Given the description of an element on the screen output the (x, y) to click on. 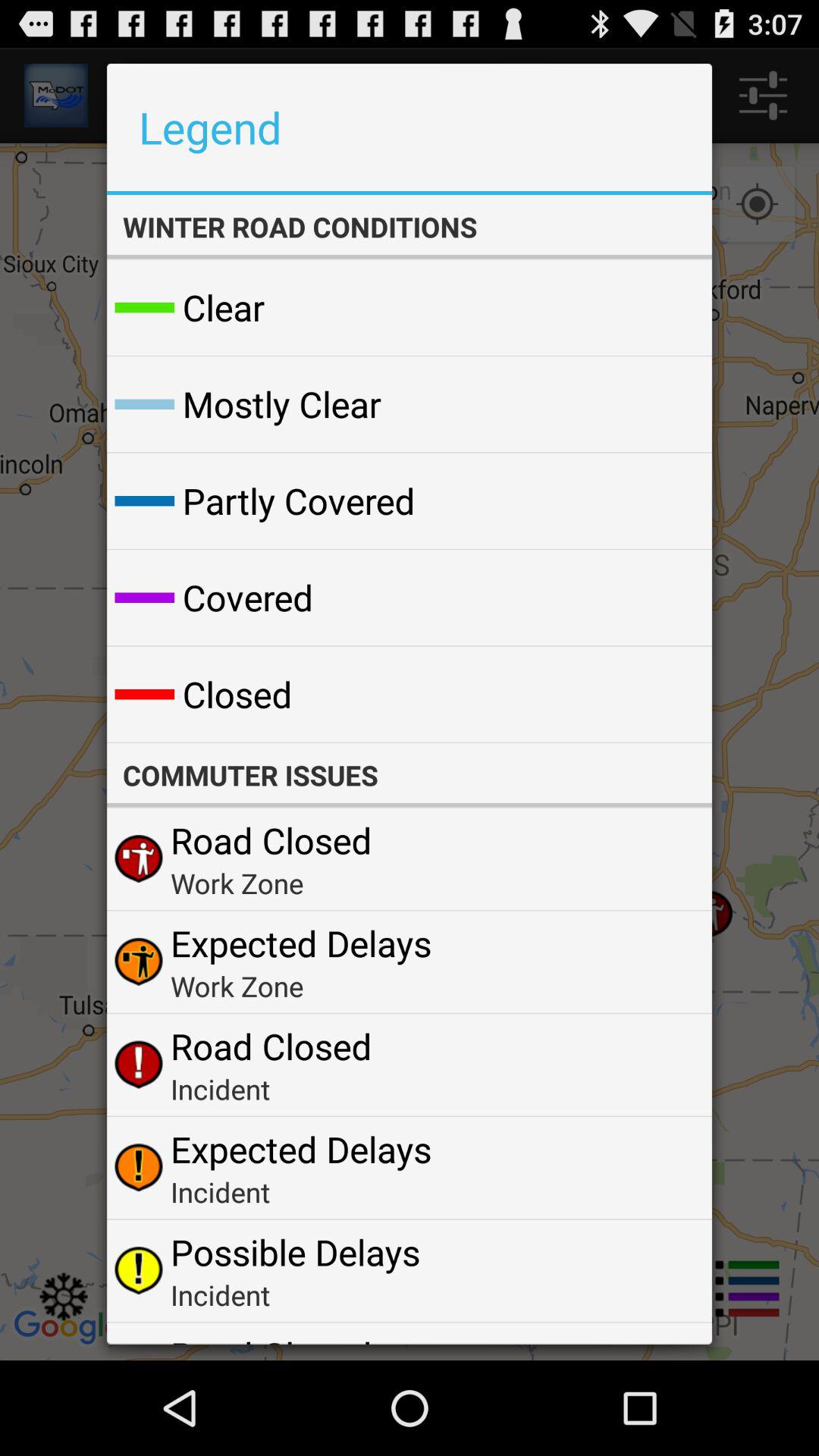
launch the item above the commuter issues (664, 694)
